Given the description of an element on the screen output the (x, y) to click on. 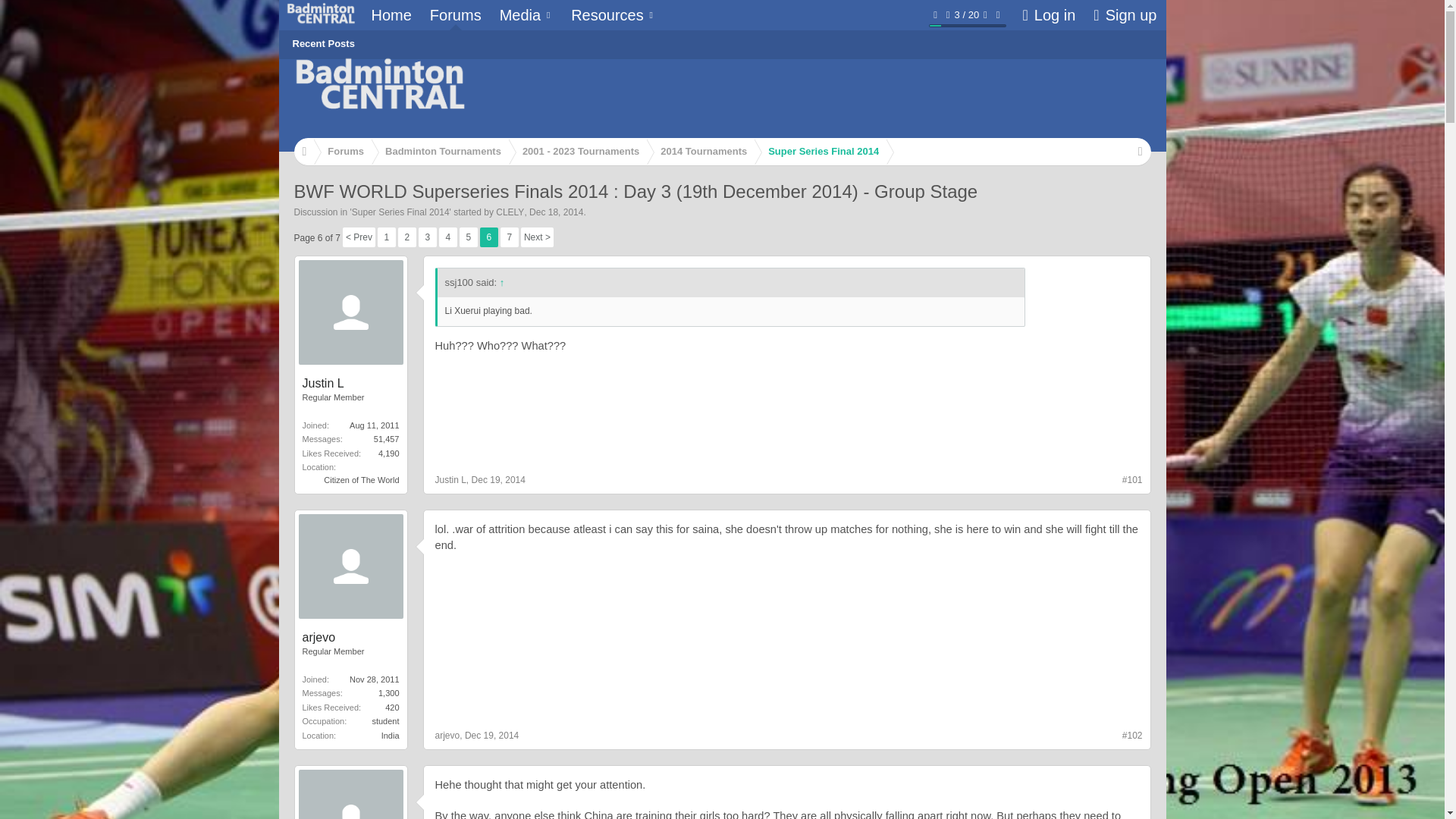
Permalink (491, 735)
Permalink (1132, 736)
Permalink (1132, 480)
Dec 18, 2014 at 5:28 PM (556, 212)
Forums (455, 15)
Permalink (498, 480)
Resources (613, 15)
Log in (1048, 15)
Sign up (1125, 15)
Recent Posts (323, 43)
